Given the description of an element on the screen output the (x, y) to click on. 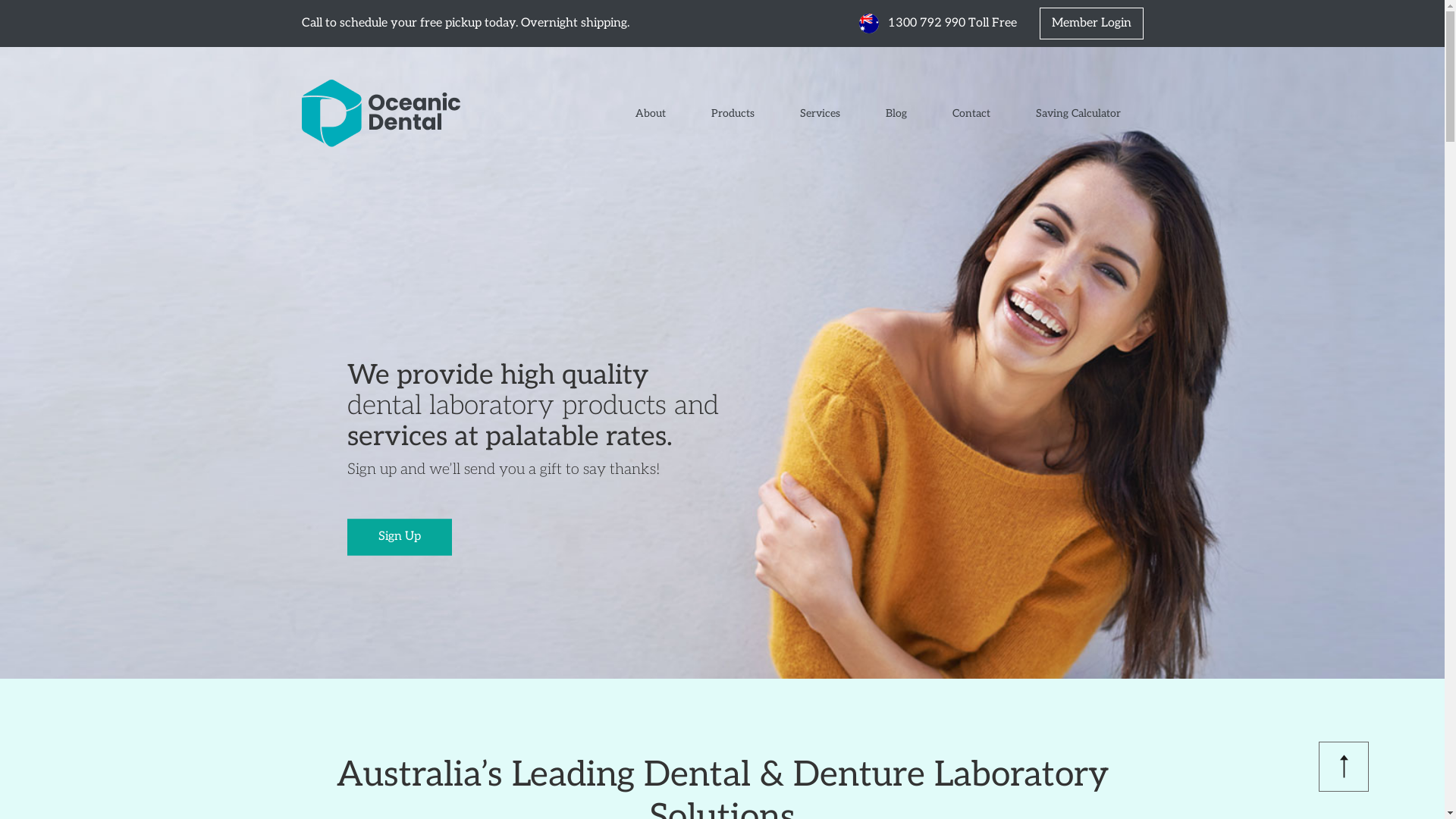
About Element type: text (650, 113)
1300 792 990 Element type: text (912, 22)
Saving Calculator Element type: text (1078, 113)
Member Login Element type: text (1090, 23)
Services Element type: text (819, 113)
Blog Element type: text (895, 113)
Sign Up Element type: text (399, 536)
Products Element type: text (732, 113)
Contact Element type: text (971, 113)
